Given the description of an element on the screen output the (x, y) to click on. 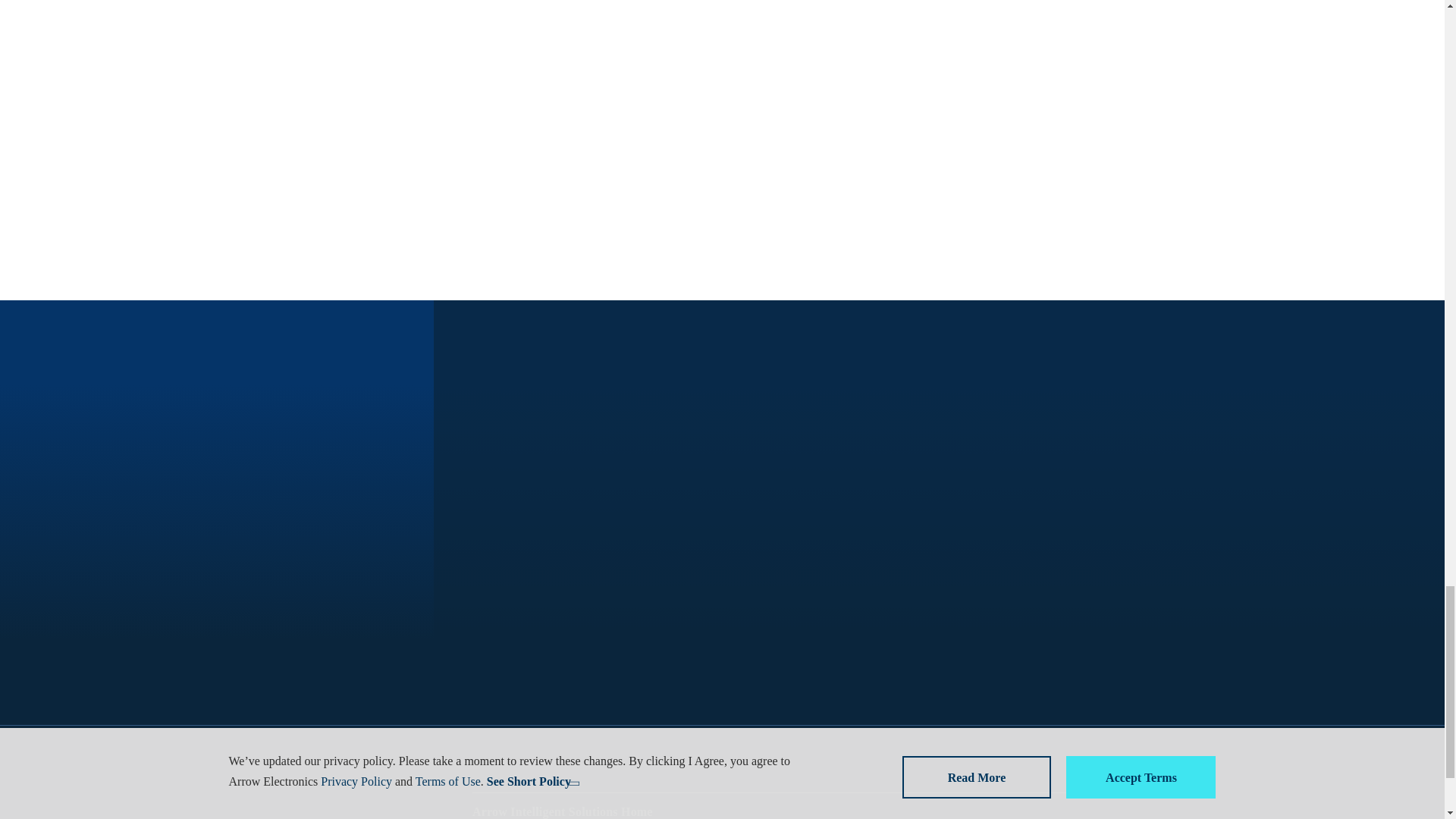
Arrow Intelligent Solutions Home (561, 811)
